Given the description of an element on the screen output the (x, y) to click on. 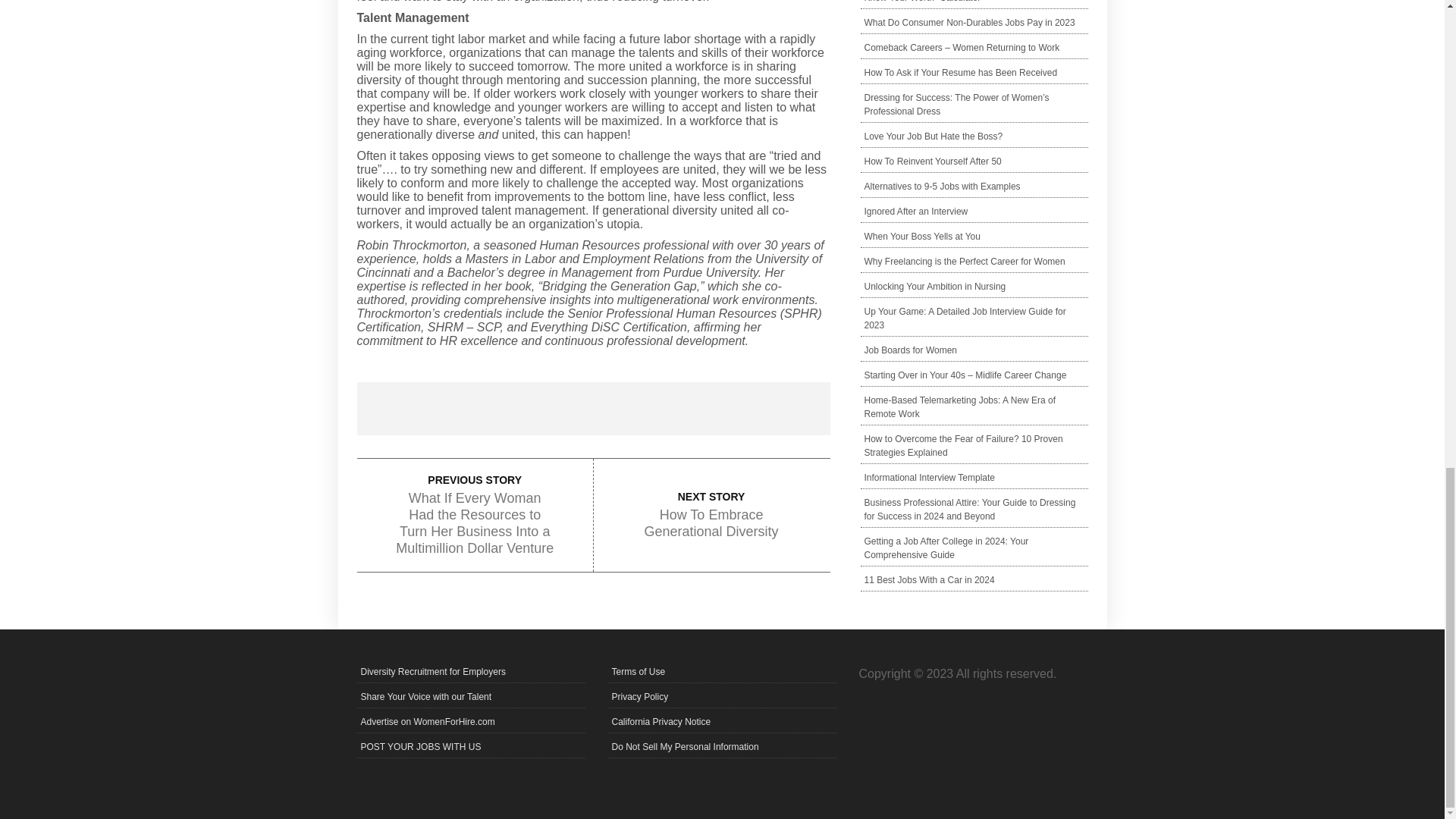
Tweet This (533, 408)
Pin This (651, 408)
Email This (770, 408)
Share on Facebook (415, 408)
